Given the description of an element on the screen output the (x, y) to click on. 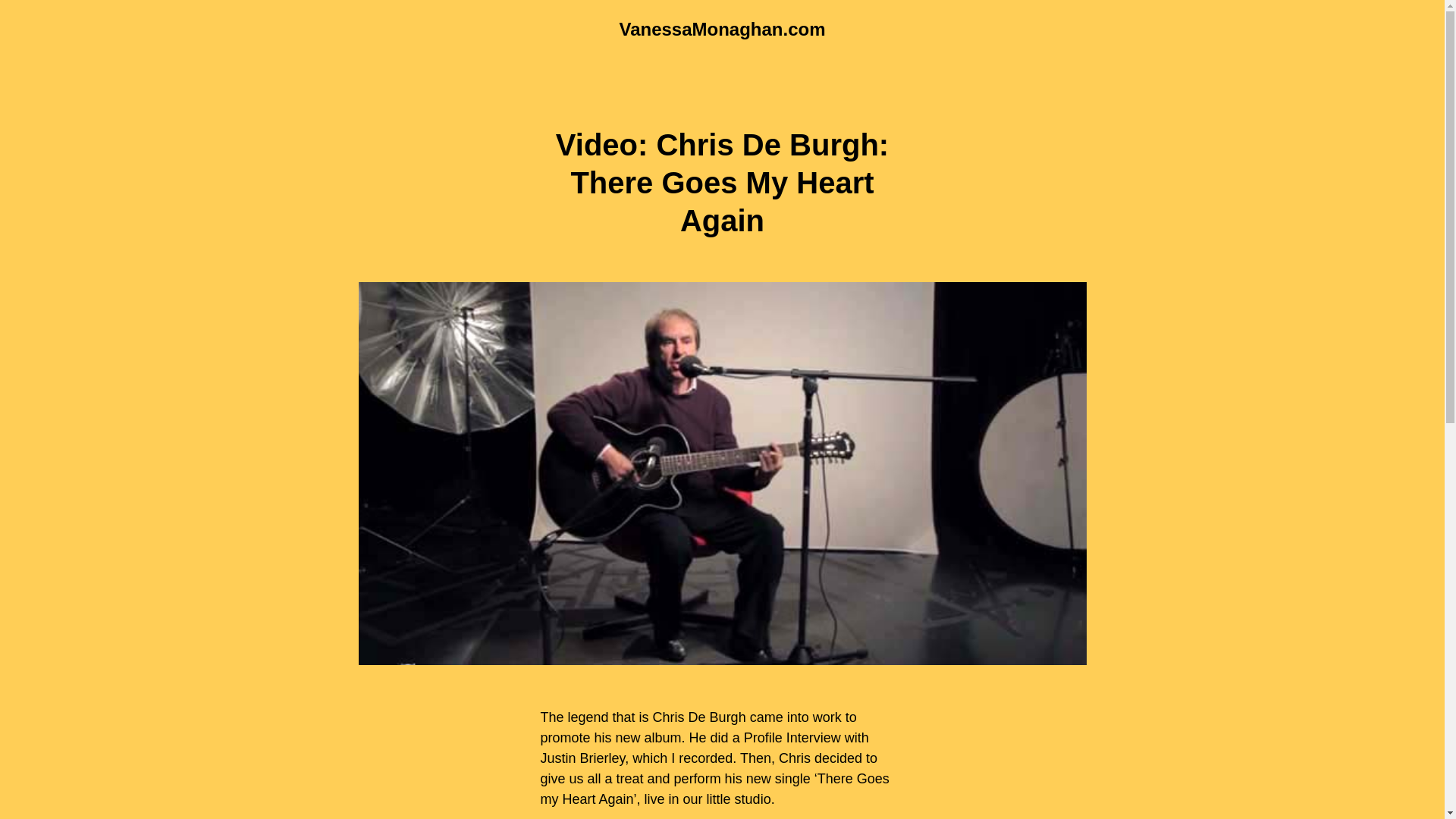
Video: Chris De Burgh: There Goes My Heart Again (722, 182)
VanessaMonaghan.com (721, 28)
